Given the description of an element on the screen output the (x, y) to click on. 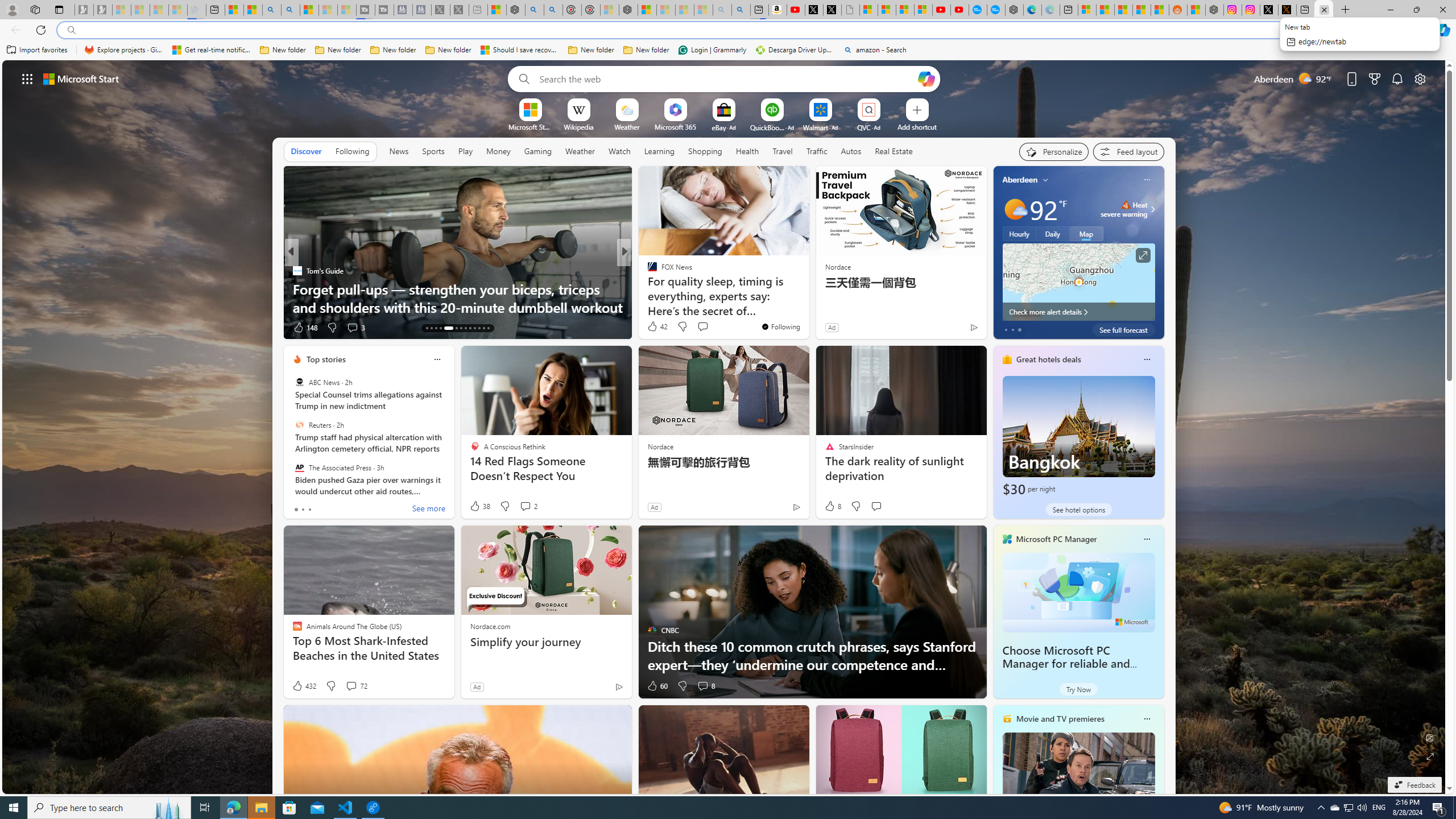
42 Like (657, 326)
79 Like (652, 327)
Mostly sunny (1014, 208)
AutomationID: tab-13 (426, 328)
Health (746, 151)
The Associated Press (299, 466)
Autos (851, 151)
Traffic (816, 151)
Shanghai, China hourly forecast | Microsoft Weather (1123, 9)
